Given the description of an element on the screen output the (x, y) to click on. 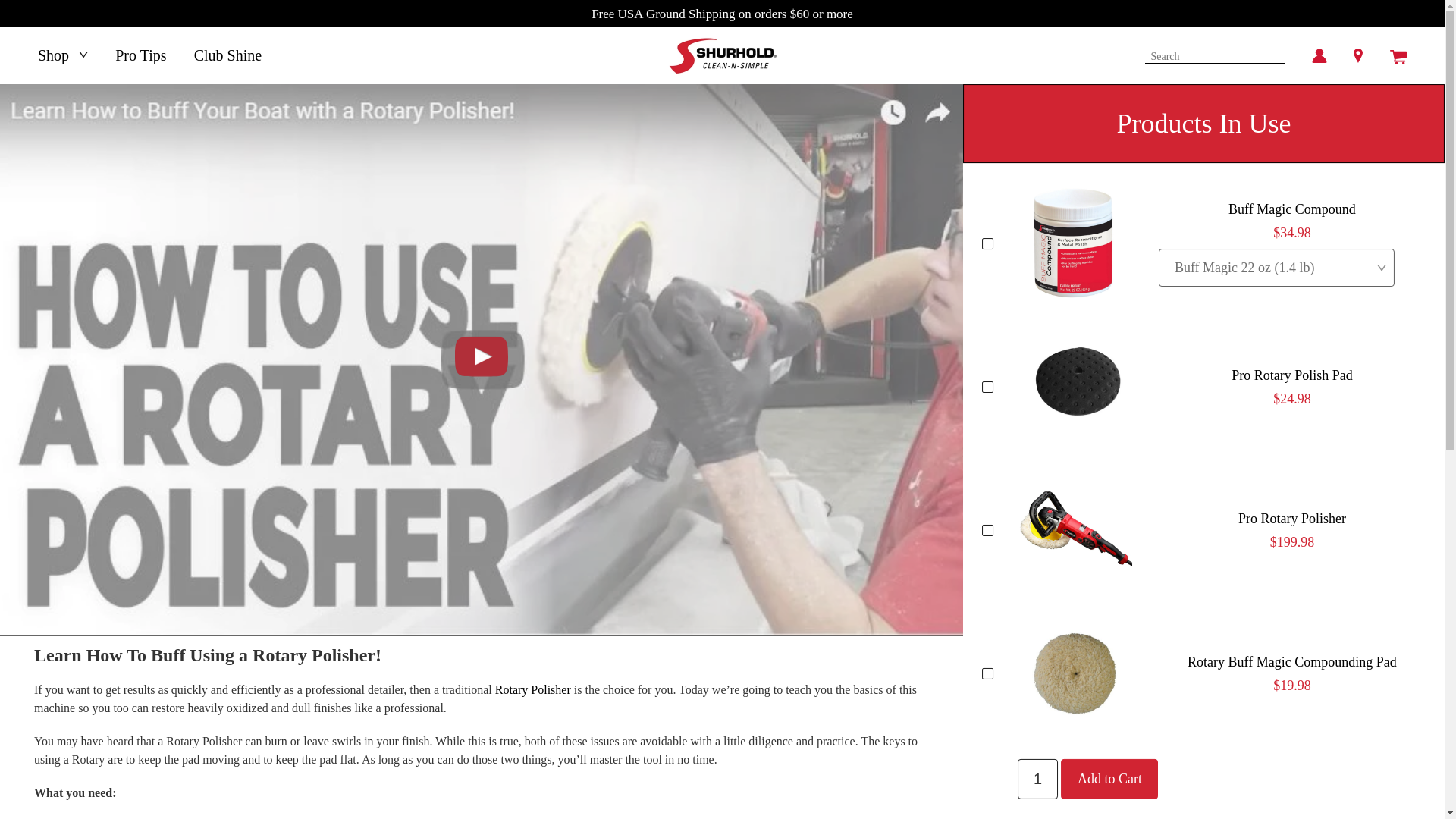
Shop (62, 54)
1 (1037, 778)
Shurhold Industries, Inc. (721, 55)
Shurhold Industries, Inc. (722, 55)
